Given the description of an element on the screen output the (x, y) to click on. 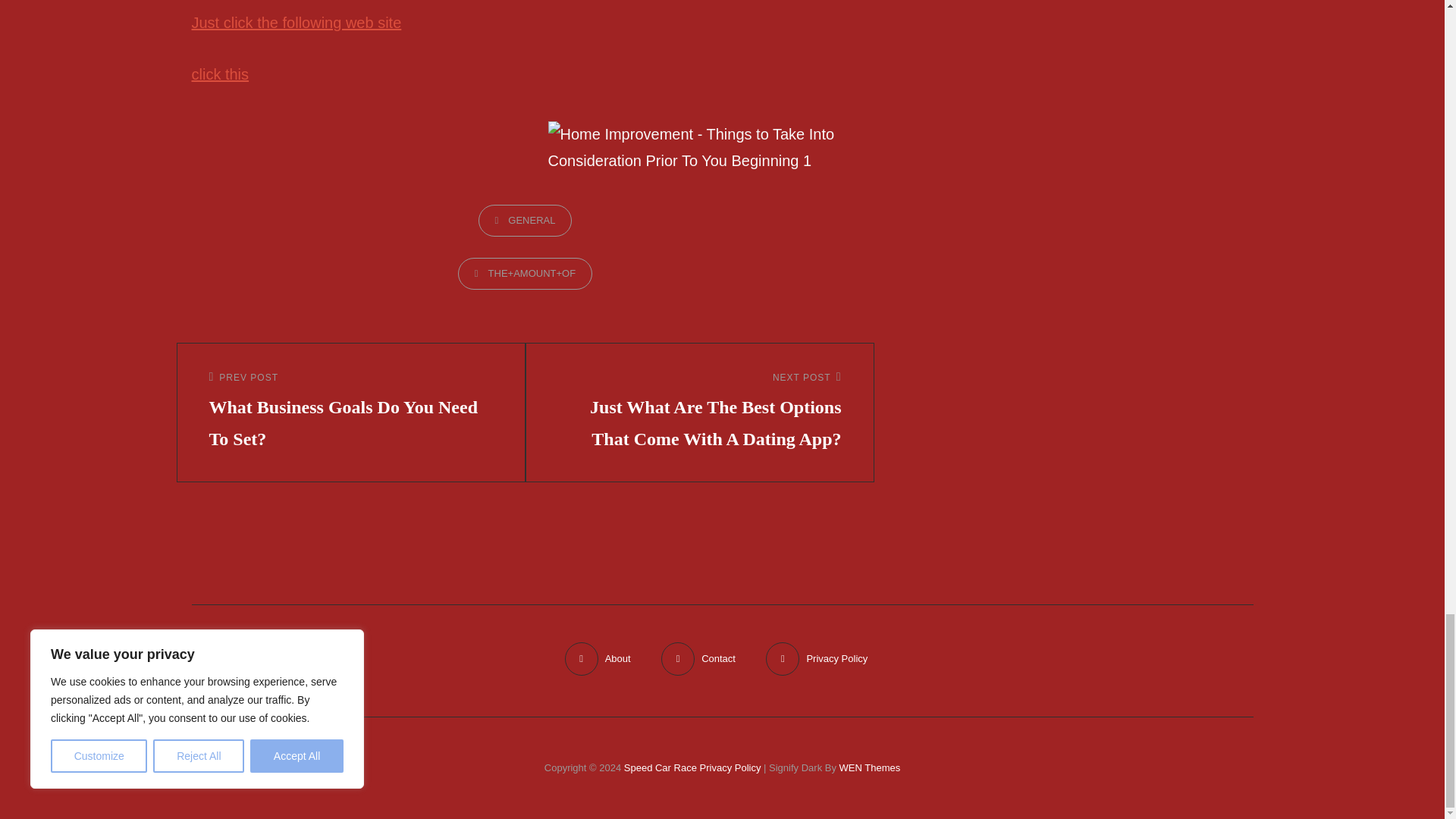
click this (219, 74)
GENERAL (525, 220)
Just click the following web site (295, 22)
